Given the description of an element on the screen output the (x, y) to click on. 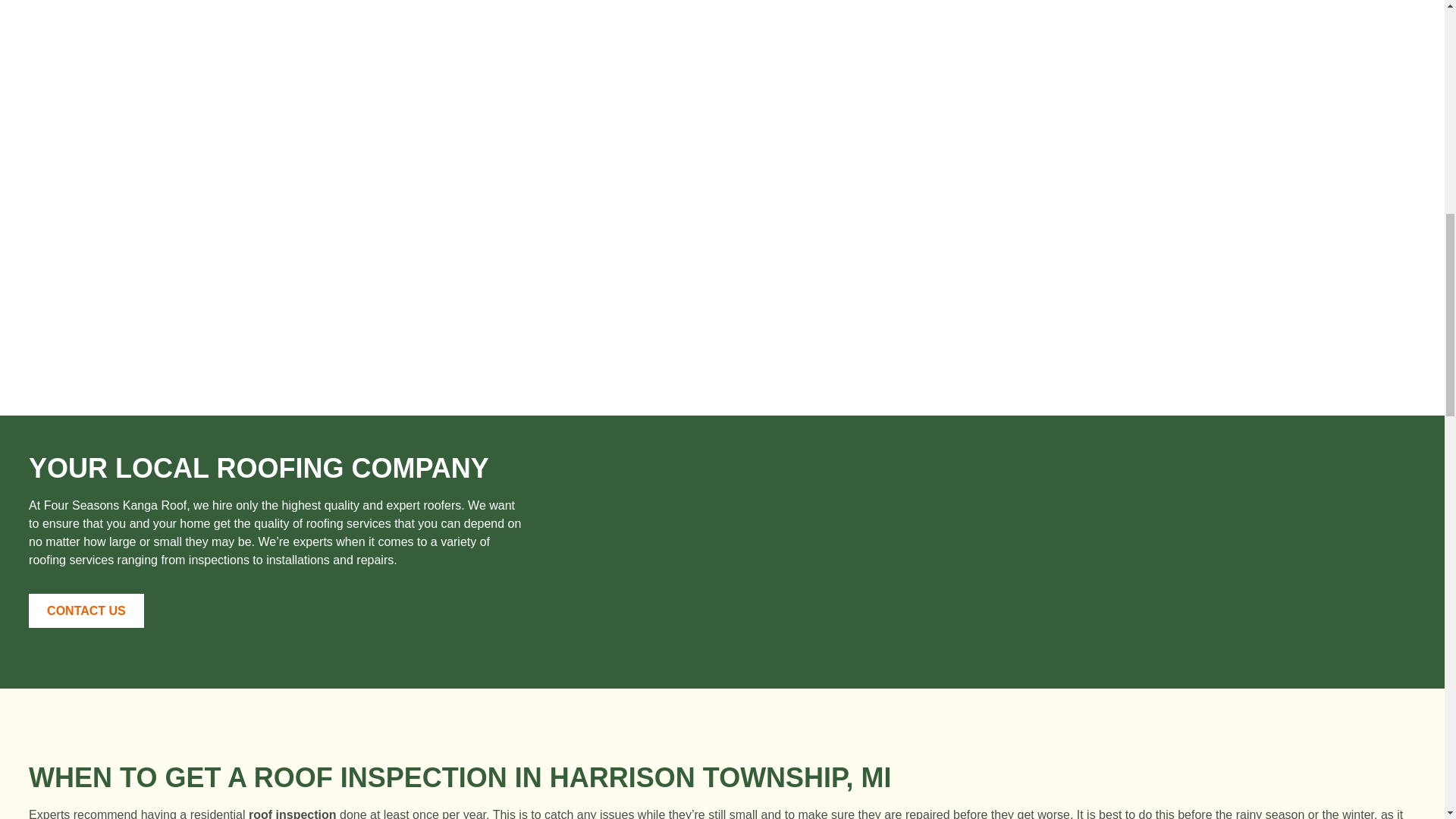
CONTACT US (86, 610)
roof inspection (292, 813)
